Given the description of an element on the screen output the (x, y) to click on. 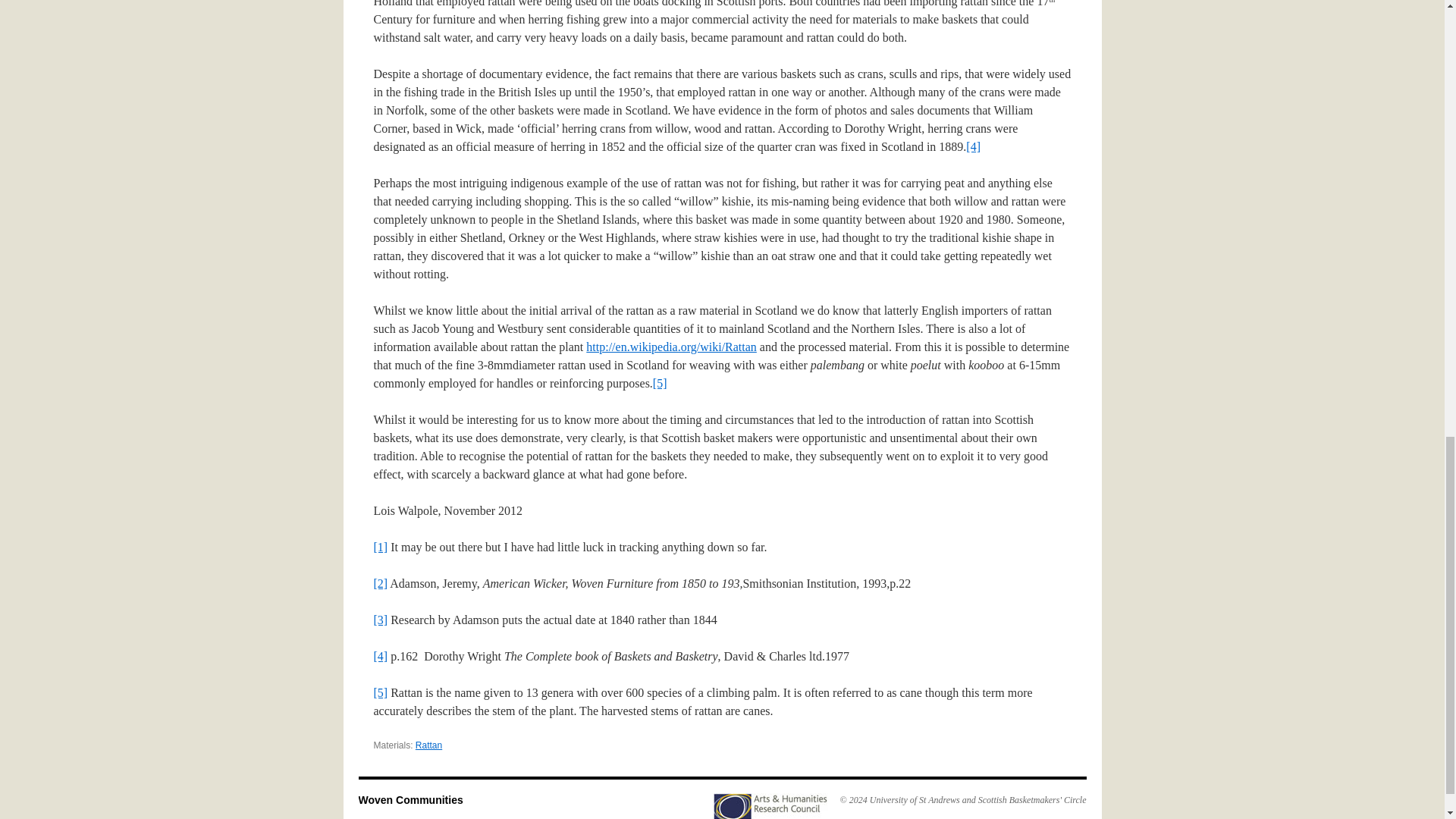
University of St Andrews (914, 799)
Woven Communities (410, 799)
Rattan (428, 745)
Woven Communities (410, 799)
Scottish Basketmakers' Circle (1032, 799)
